Given the description of an element on the screen output the (x, y) to click on. 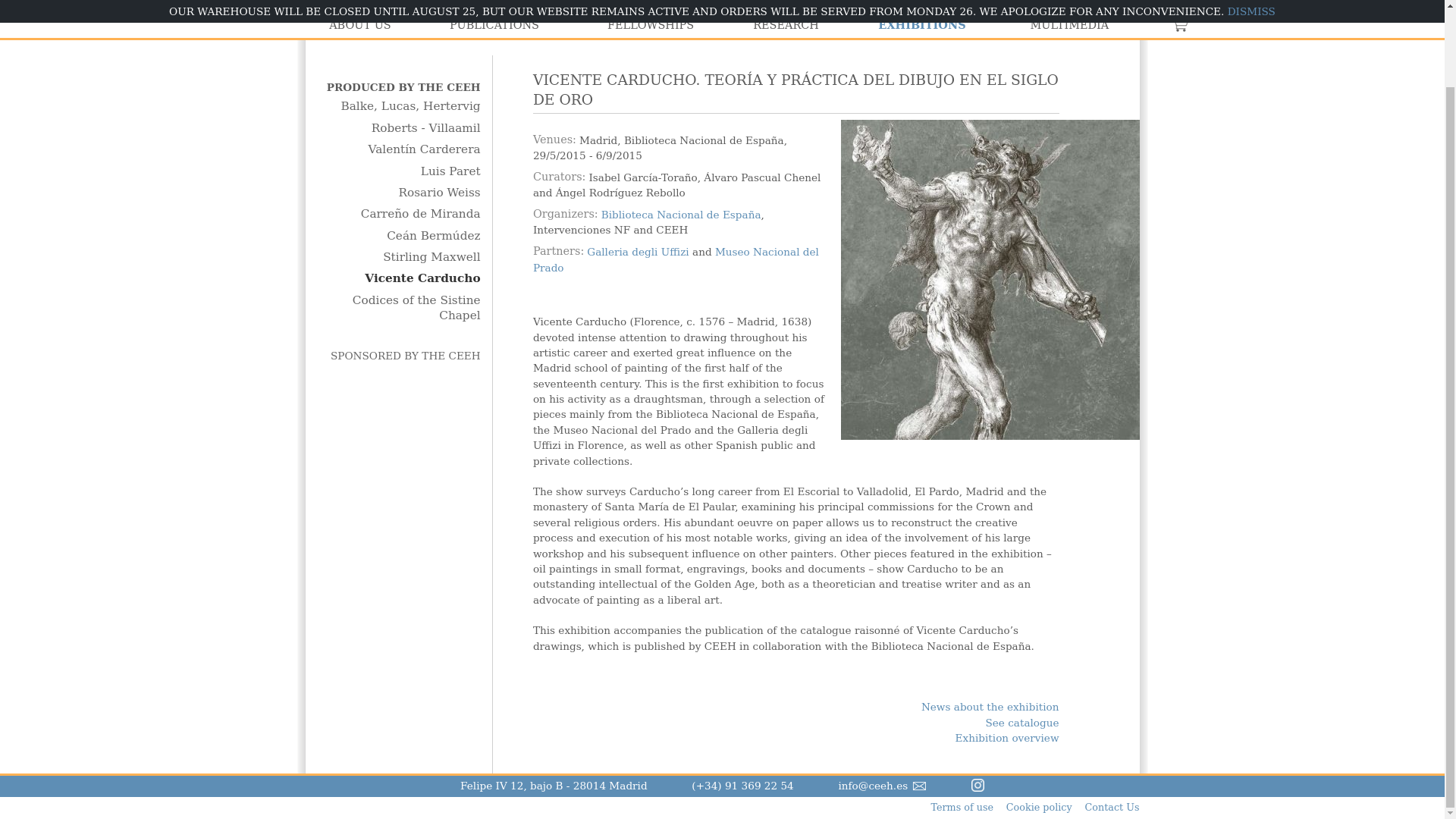
SPONSORED BY THE CEEH (398, 355)
MULTIMEDIA (1068, 25)
RESEARCH (786, 25)
VER CARRO (1180, 25)
Stirling Maxwell (398, 257)
Vicente Carducho (398, 278)
Roberts - Villaamil (398, 128)
ABOUT US (359, 25)
Balke, Lucas, Hertervig (398, 106)
Rosario Weiss (398, 192)
